Given the description of an element on the screen output the (x, y) to click on. 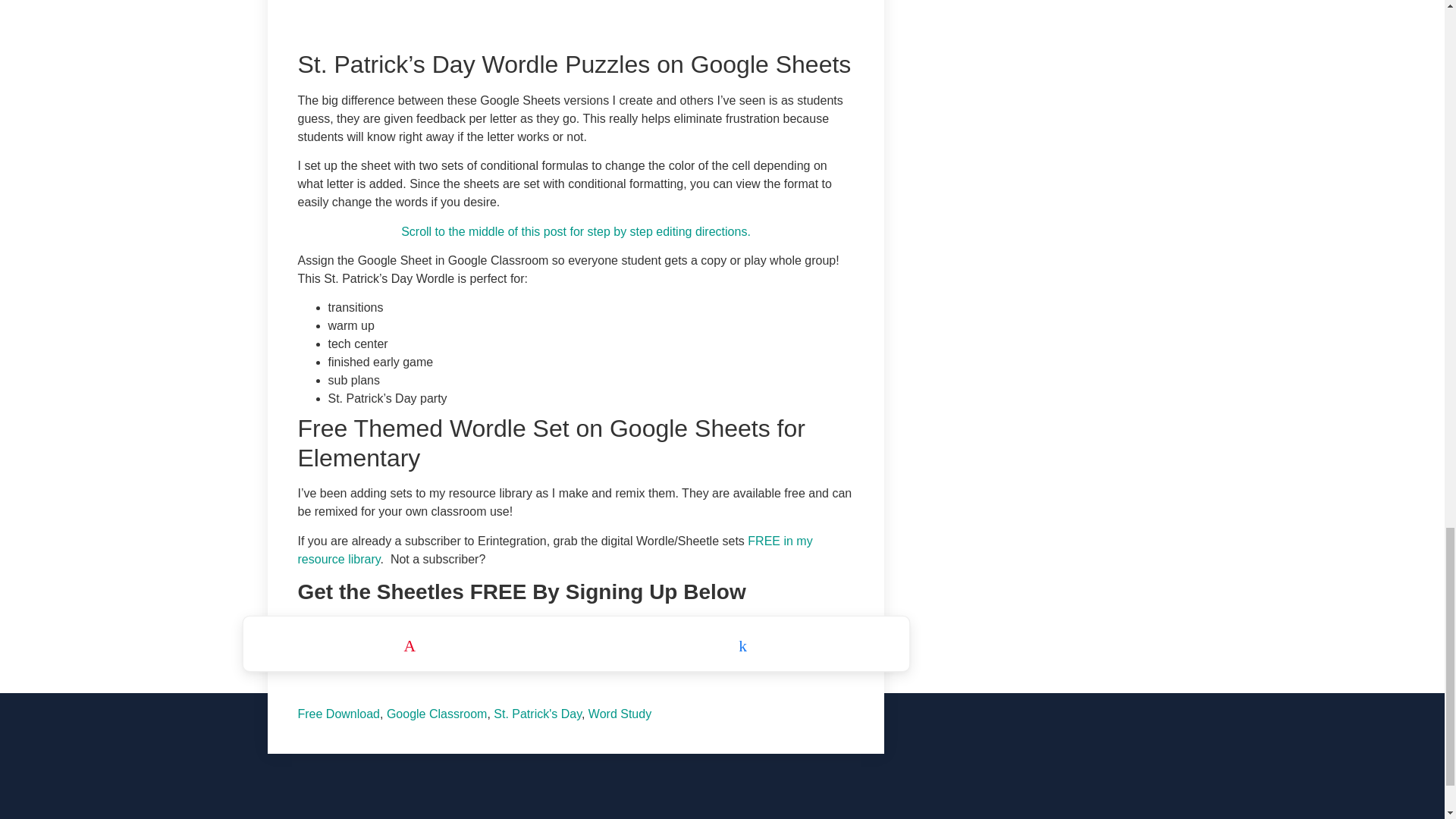
Free Download (338, 713)
Word Study (619, 713)
FREE in my resource library (554, 549)
St. Patrick's Day (536, 713)
Google Classroom (437, 713)
